Given the description of an element on the screen output the (x, y) to click on. 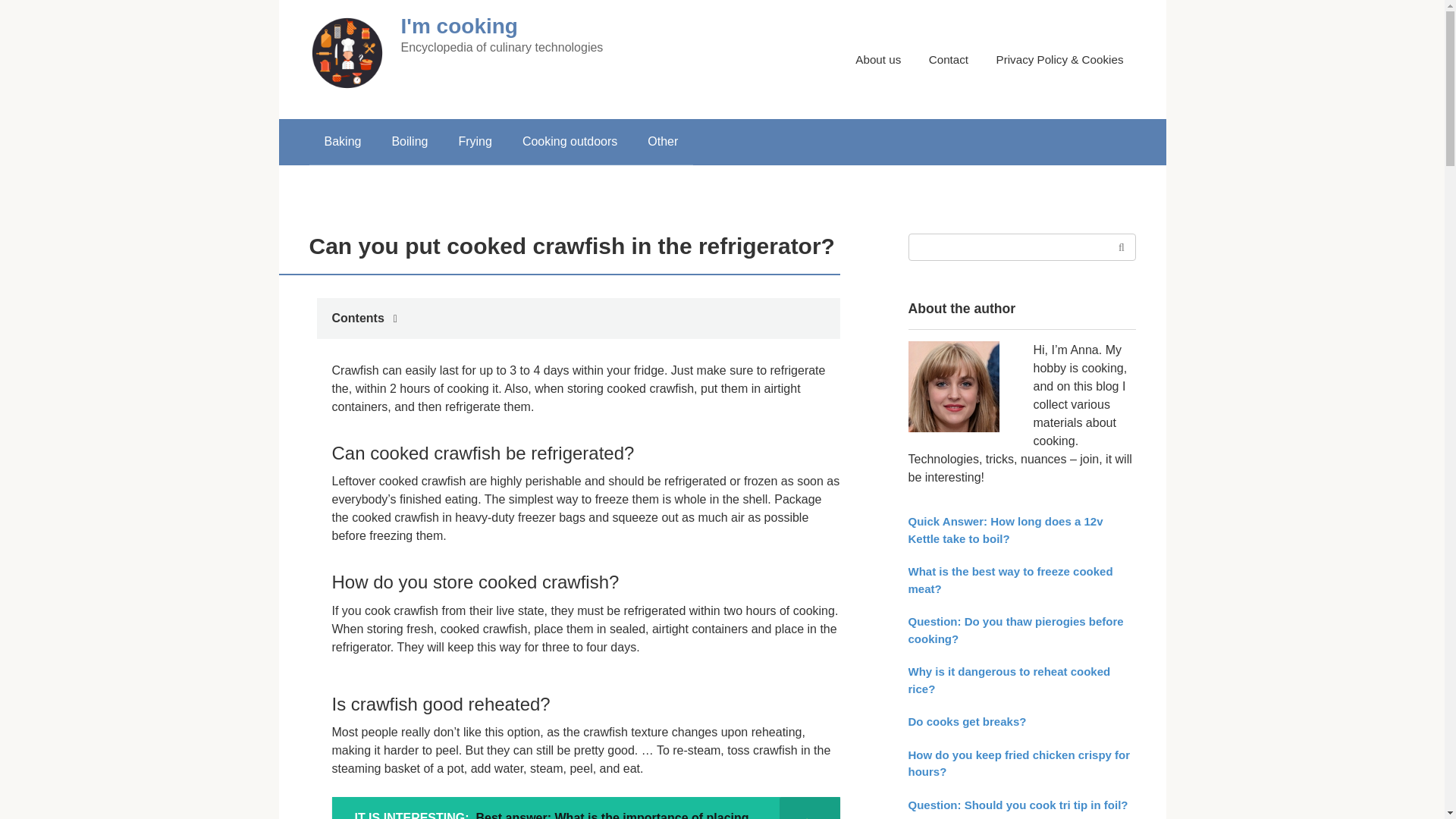
About us (878, 59)
Contact (948, 59)
I'm cooking (458, 25)
Frying (474, 141)
Boiling (408, 141)
Baking (342, 141)
Other (662, 141)
